Given the description of an element on the screen output the (x, y) to click on. 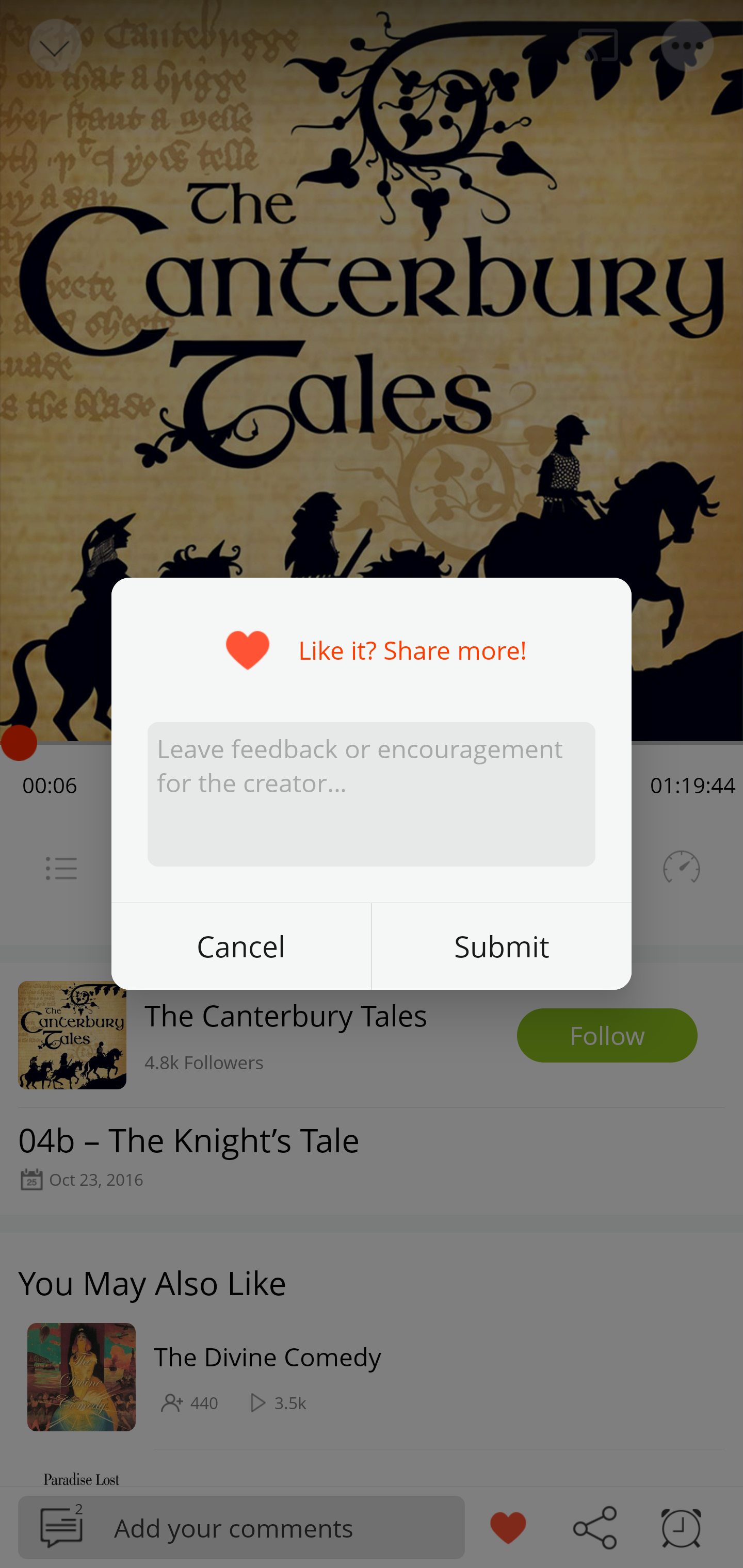
Leave feedback or encouragement for the creator… (371, 794)
Cancel (240, 946)
Submit (501, 946)
